Given the description of an element on the screen output the (x, y) to click on. 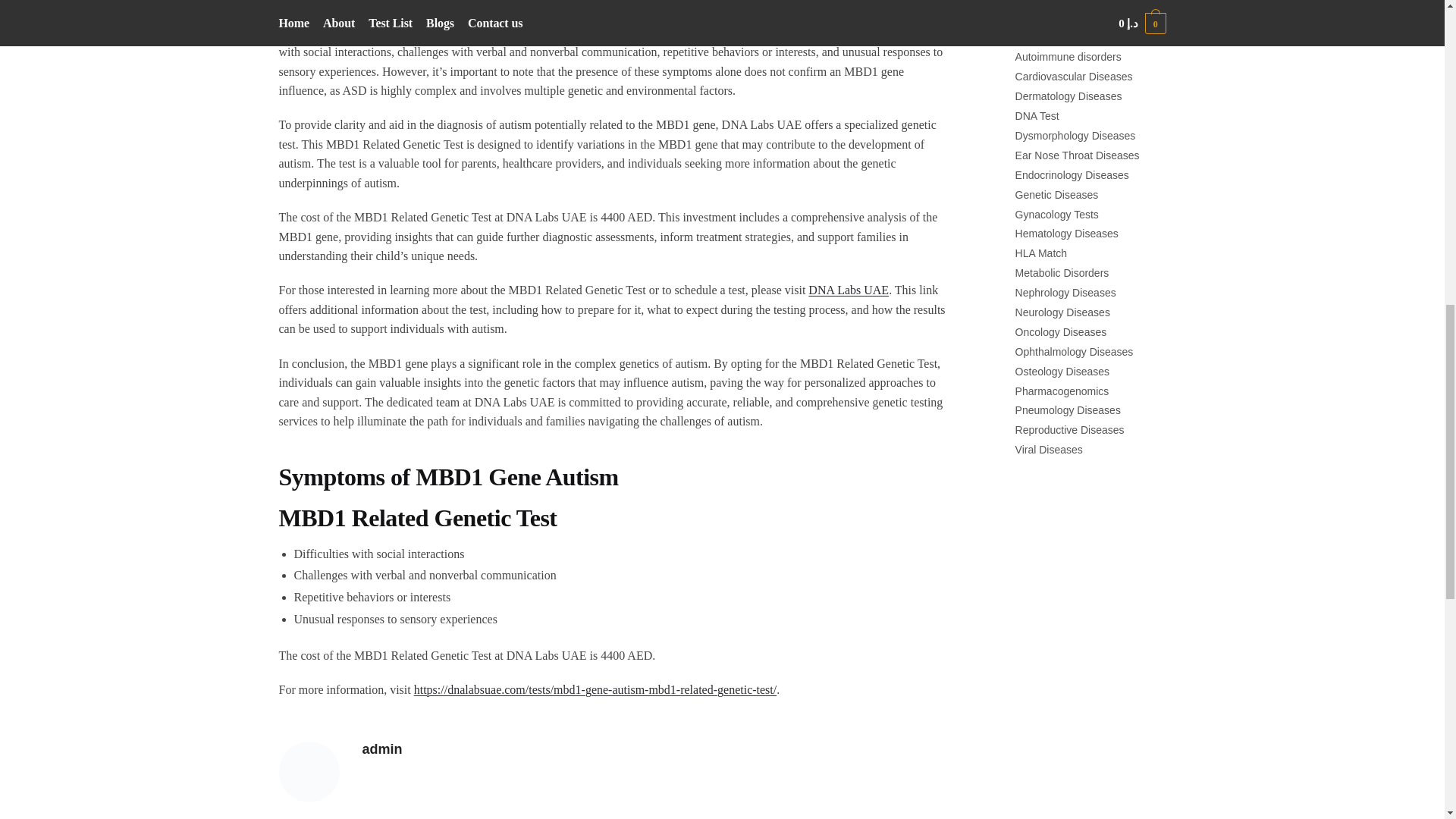
Ancestry DNA Test (1058, 37)
admin (657, 749)
Autoimmune disorders (1067, 56)
Dermatology Diseases (1068, 96)
DNA Test (1036, 115)
Dysmorphology Diseases (1074, 135)
DNA Labs UAE (848, 289)
Cardiovascular Diseases (1073, 76)
